Given the description of an element on the screen output the (x, y) to click on. 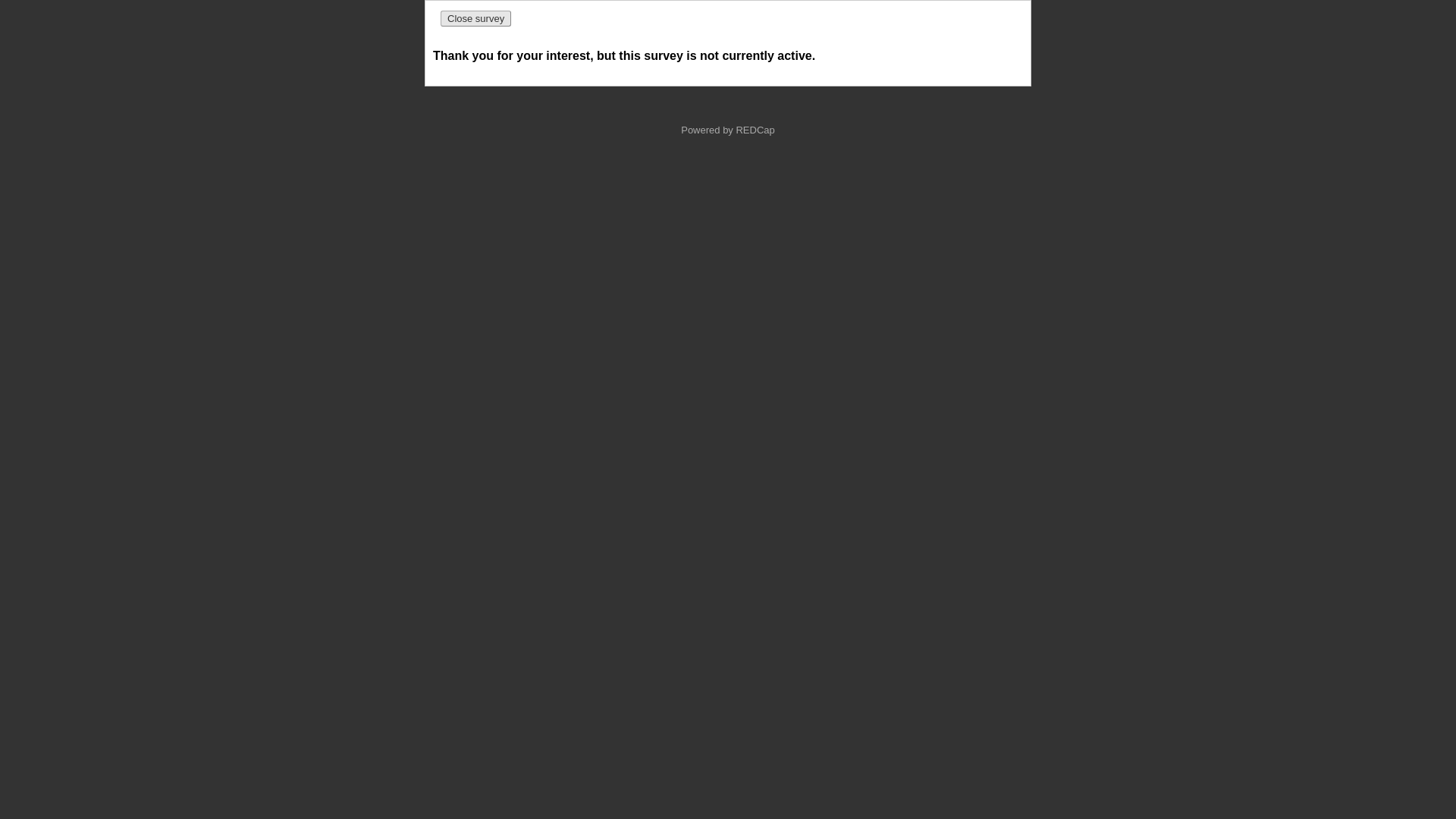
Powered by REDCap Element type: text (727, 129)
Close survey Element type: text (475, 18)
